Given the description of an element on the screen output the (x, y) to click on. 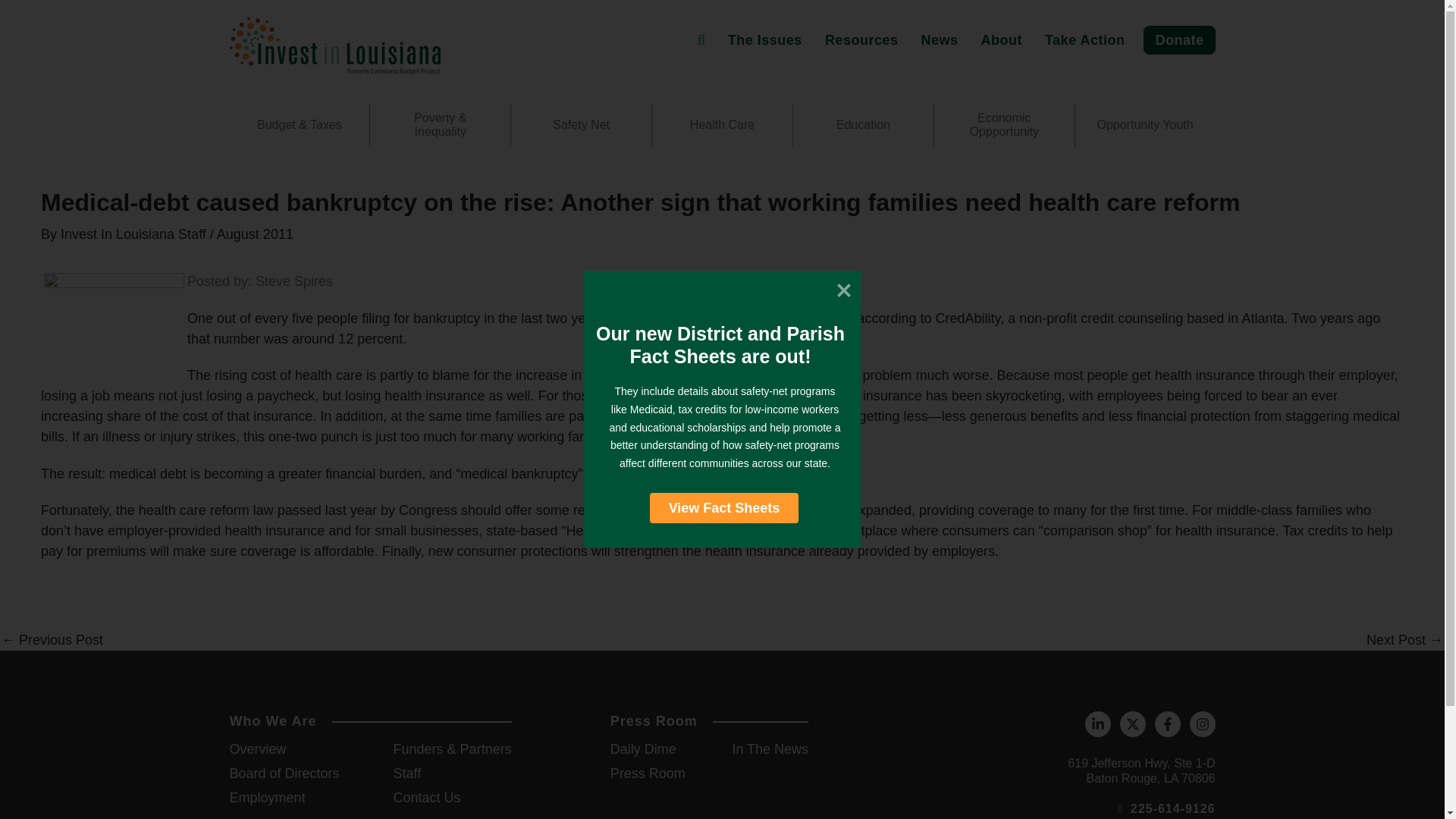
Resources (861, 39)
Help for Medical (113, 323)
The Issues (764, 39)
News (938, 39)
View all posts by Invest In Louisiana Staff (135, 233)
About (1000, 39)
Who Benefits When State Sells Group Benefits Office (1404, 640)
Health Care (721, 125)
Education (863, 125)
Safety Net (580, 125)
Opportunity Youth (1145, 125)
Economic Oppportunity (1004, 125)
In the News: "Louisiana lets payday loans flourish" (52, 640)
Donate (1178, 39)
Take Action (1085, 39)
